Given the description of an element on the screen output the (x, y) to click on. 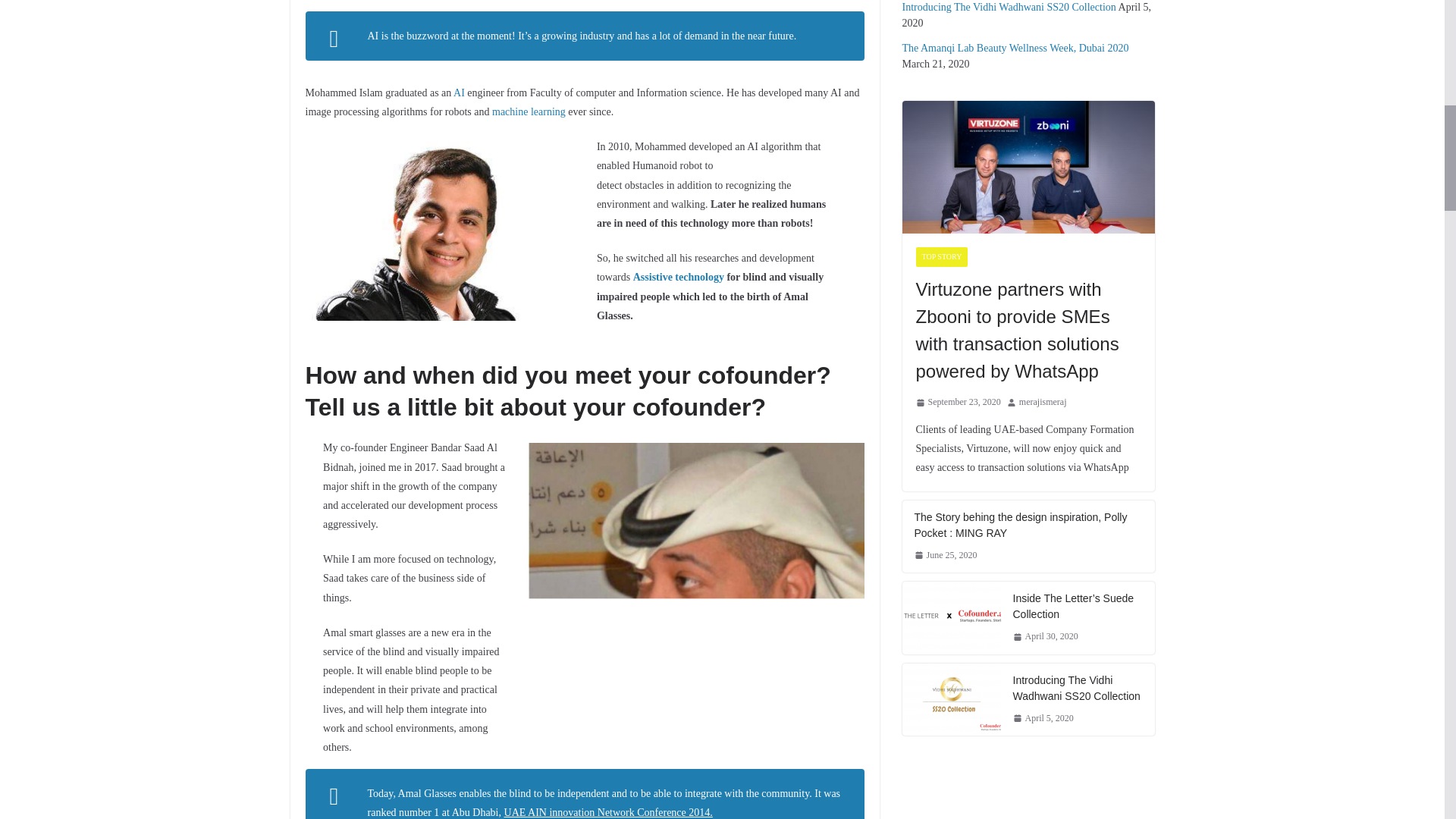
UAE AIN innovation Network Conference 2014. (608, 812)
Assistive technology (679, 276)
AI (458, 92)
machine learning (529, 111)
